Given the description of an element on the screen output the (x, y) to click on. 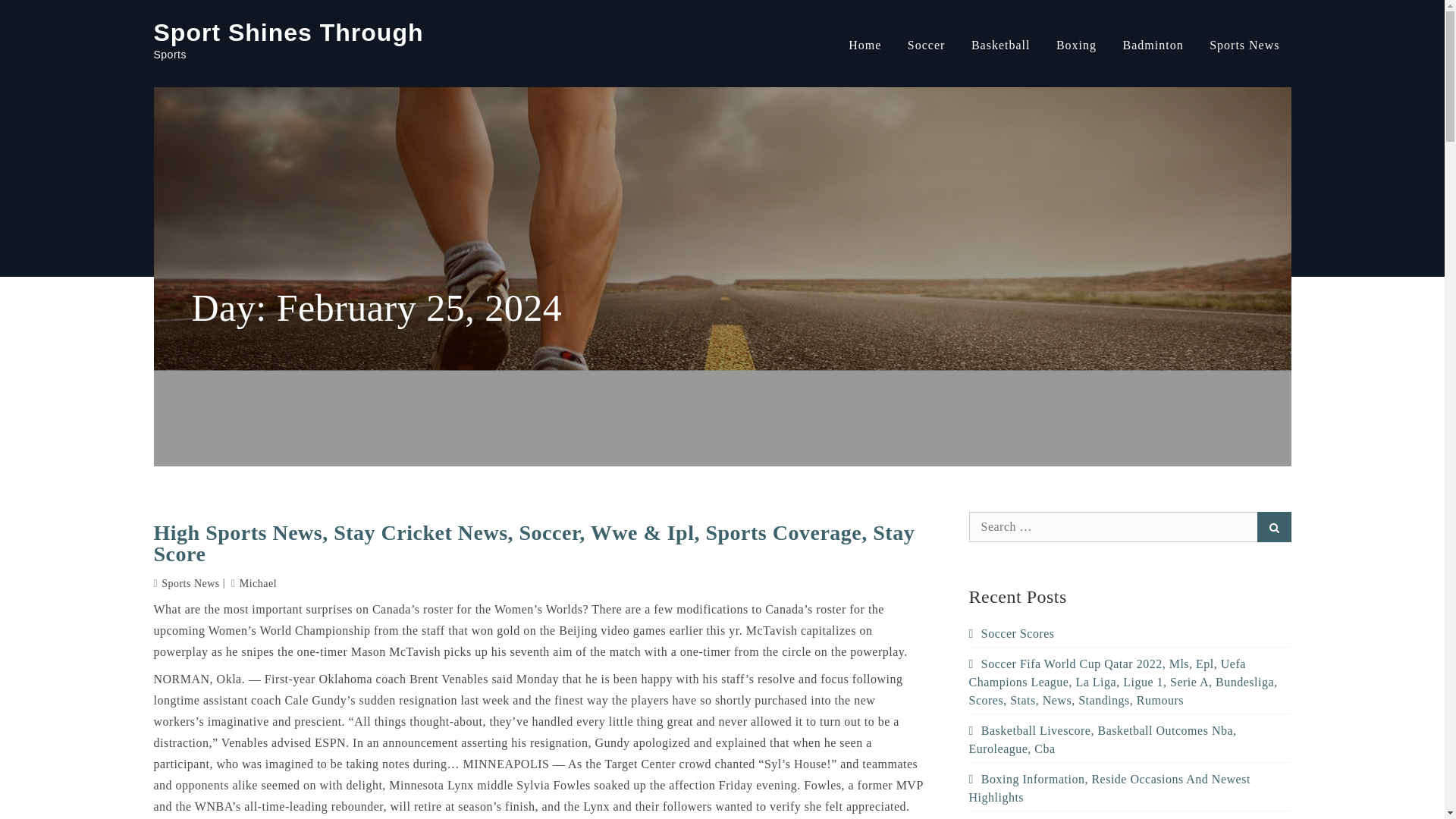
Sports News (1244, 45)
Soccer Scores (1011, 633)
Boxing Information, Reside Occasions And Newest Highlights (1109, 788)
Michael (253, 583)
Sport Shines Through (287, 31)
Basketball (1000, 45)
Search (1274, 526)
Badminton (1153, 45)
Sports News (190, 583)
